Given the description of an element on the screen output the (x, y) to click on. 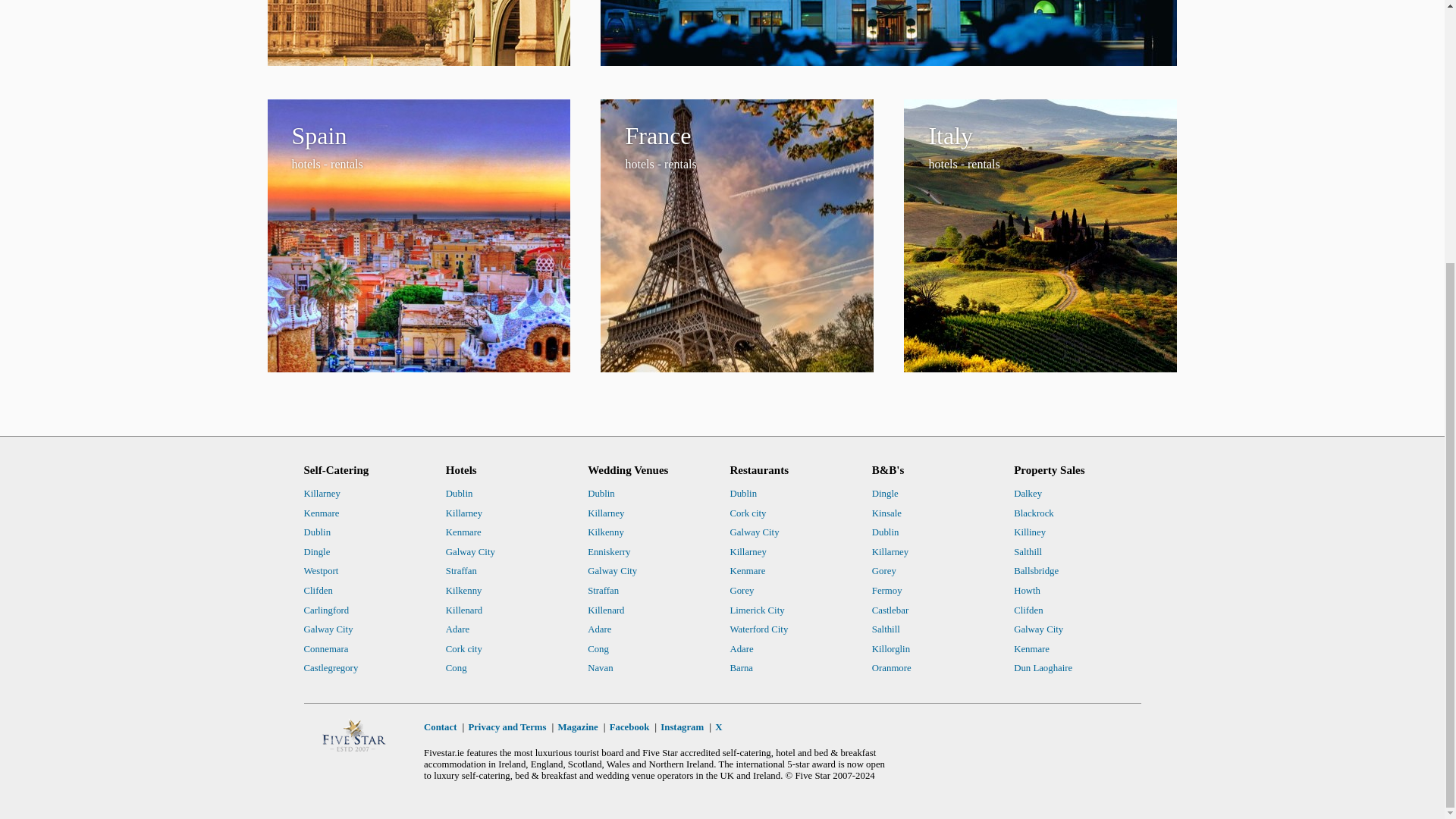
Cork city (508, 649)
Straffan (651, 591)
Galway City (651, 571)
Kilkenny (887, 33)
Self-Catering Galway City (651, 532)
Hotels Cork city (365, 629)
Dublin (508, 649)
